Given the description of an element on the screen output the (x, y) to click on. 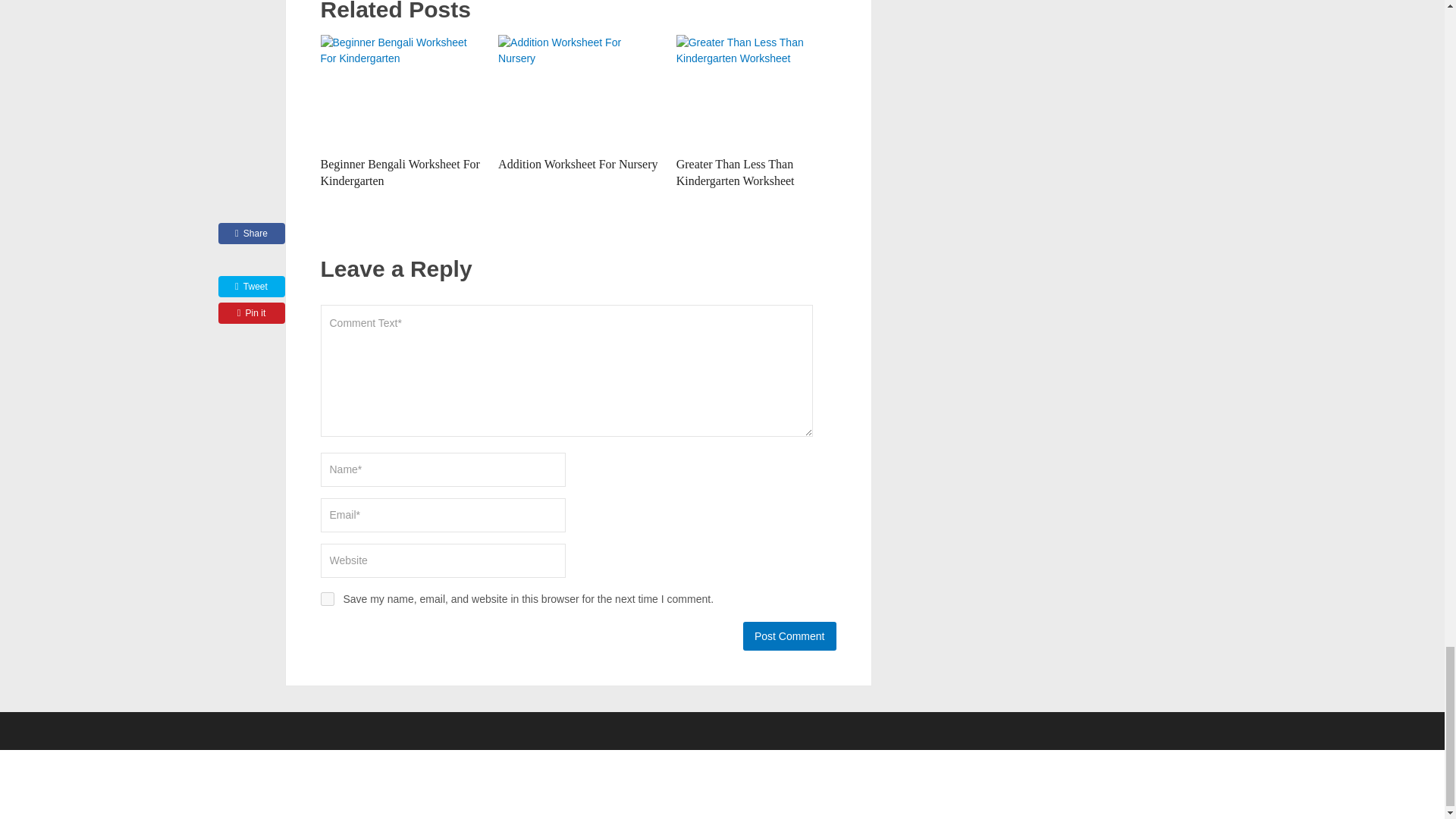
Addition Worksheet For Nursery (577, 91)
Post Comment (788, 635)
Addition Worksheet For Nursery (577, 164)
Beginner Bengali Worksheet For Kindergarten (399, 172)
Post Comment (788, 635)
yes (326, 599)
Greater Than Less Than Kindergarten Worksheet (756, 91)
Addition Worksheet For Nursery (577, 164)
Greater Than Less Than Kindergarten Worksheet (735, 172)
Beginner Bengali Worksheet For Kindergarten (399, 172)
